Given the description of an element on the screen output the (x, y) to click on. 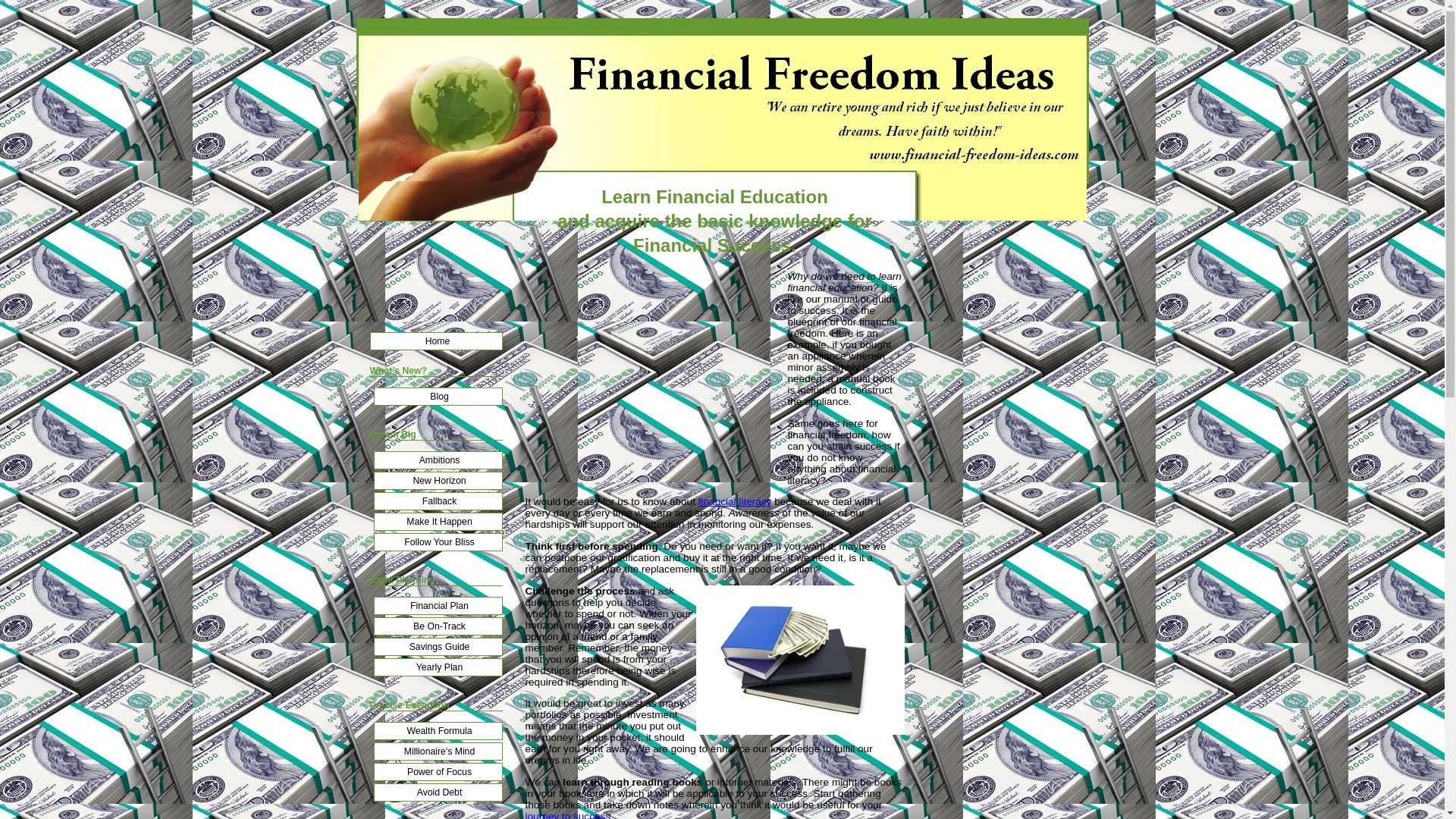
Financial Plan (437, 606)
Blog (437, 396)
Ambitions (437, 460)
financial literacy (734, 501)
Follow Your Bliss (437, 542)
Be On-Track (437, 626)
Wealth Formula (437, 730)
Savings Guide (437, 647)
financial education (799, 659)
Fallback (437, 501)
